Given the description of an element on the screen output the (x, y) to click on. 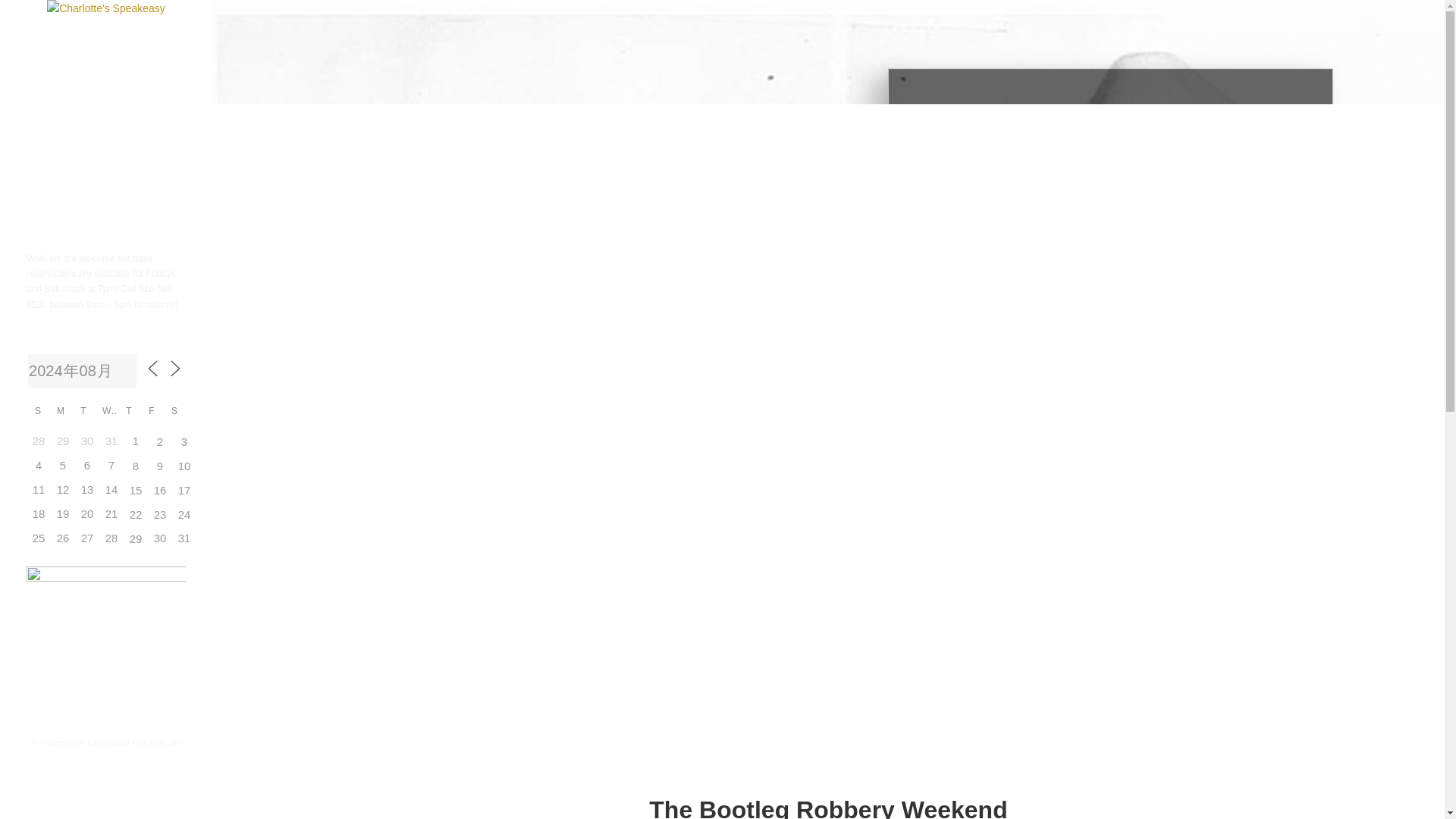
The Grand Slam Weekend (183, 511)
29 (135, 535)
17 (183, 487)
The Boss of Bosses Weekend (183, 438)
MEDIA (39, 144)
2 (159, 438)
2024-08 (81, 370)
PRIVATE EVENTS (60, 127)
REVIEW US (48, 194)
16 (159, 487)
